Given the description of an element on the screen output the (x, y) to click on. 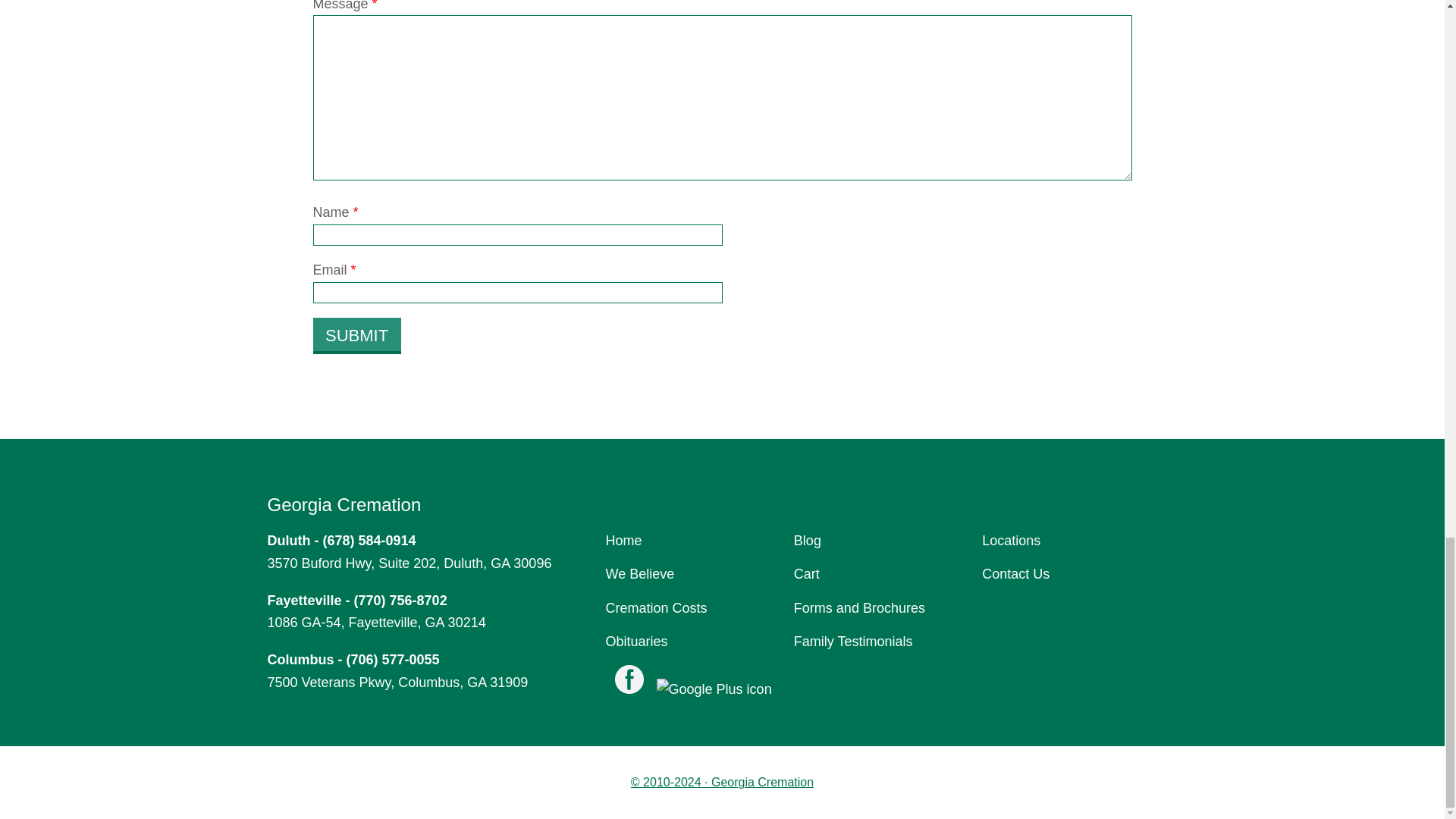
Cart (806, 573)
Submit (356, 335)
Forms and Brochures (858, 607)
7500 Veterans Pkwy, Columbus, GA 31909 (396, 682)
Visit Us on Facebook (628, 682)
Family Testimonials (852, 641)
Locations (1011, 540)
3570 Buford Hwy, Suite 202, Duluth, GA 30096 (408, 563)
Submit (356, 335)
Blog (807, 540)
